Given the description of an element on the screen output the (x, y) to click on. 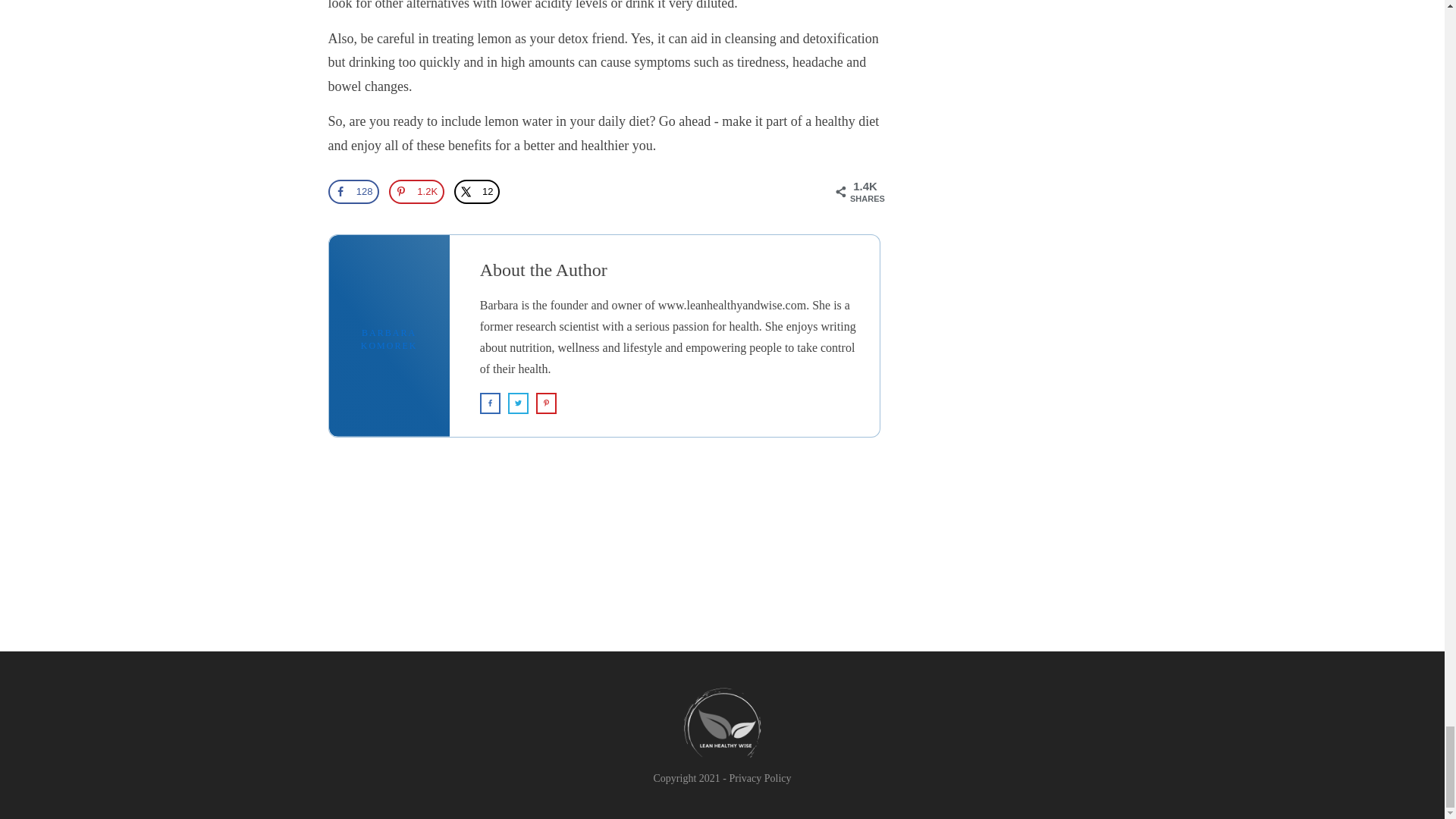
1.2K (416, 191)
Save to Pinterest (416, 191)
12 (476, 191)
Share on Facebook (352, 191)
Barbara Komorek (389, 339)
128 (352, 191)
Share on X (476, 191)
BARBARA KOMOREK (389, 339)
